Given the description of an element on the screen output the (x, y) to click on. 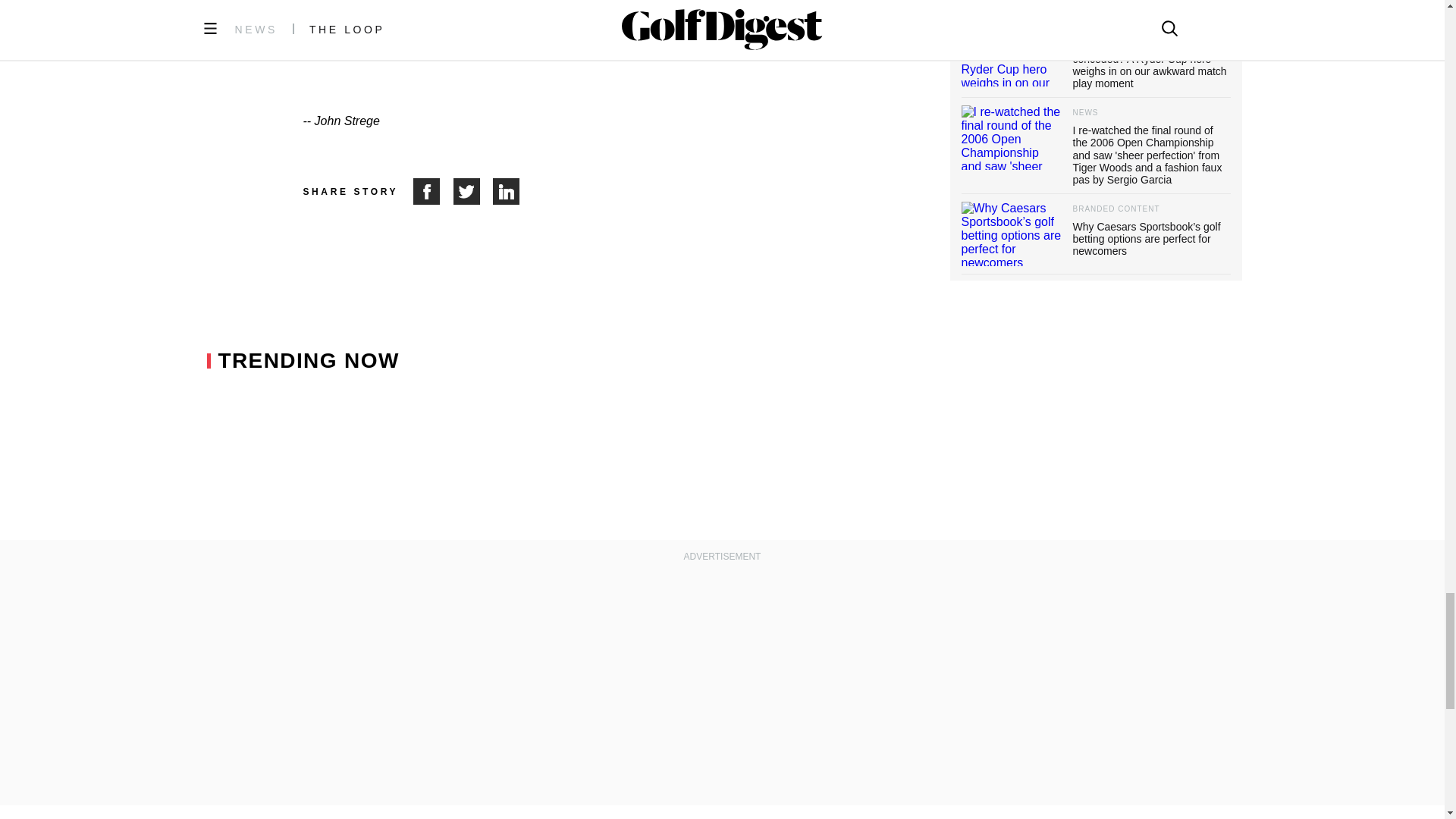
Share on LinkedIn (506, 191)
Share on Facebook (432, 191)
Share on Twitter (472, 191)
